Given the description of an element on the screen output the (x, y) to click on. 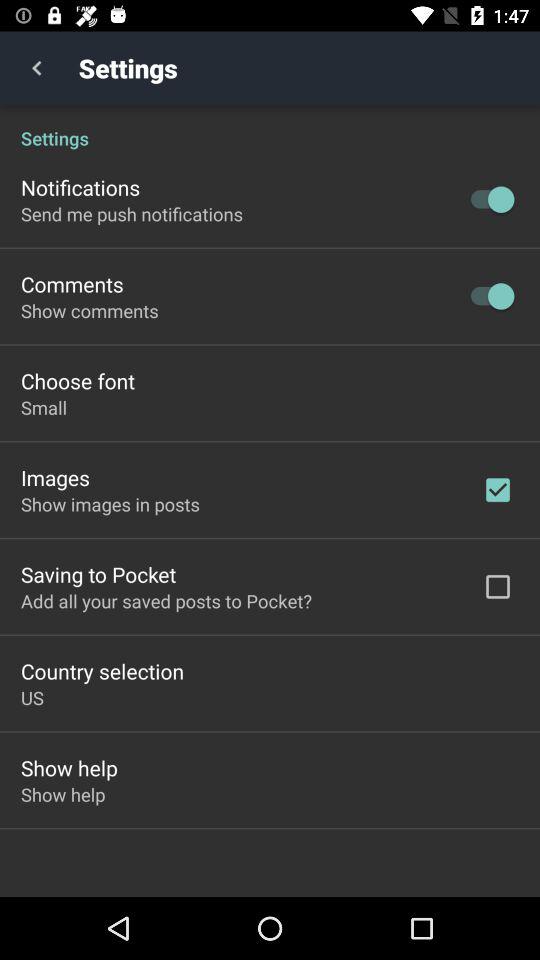
click the icon above the us (102, 670)
